Given the description of an element on the screen output the (x, y) to click on. 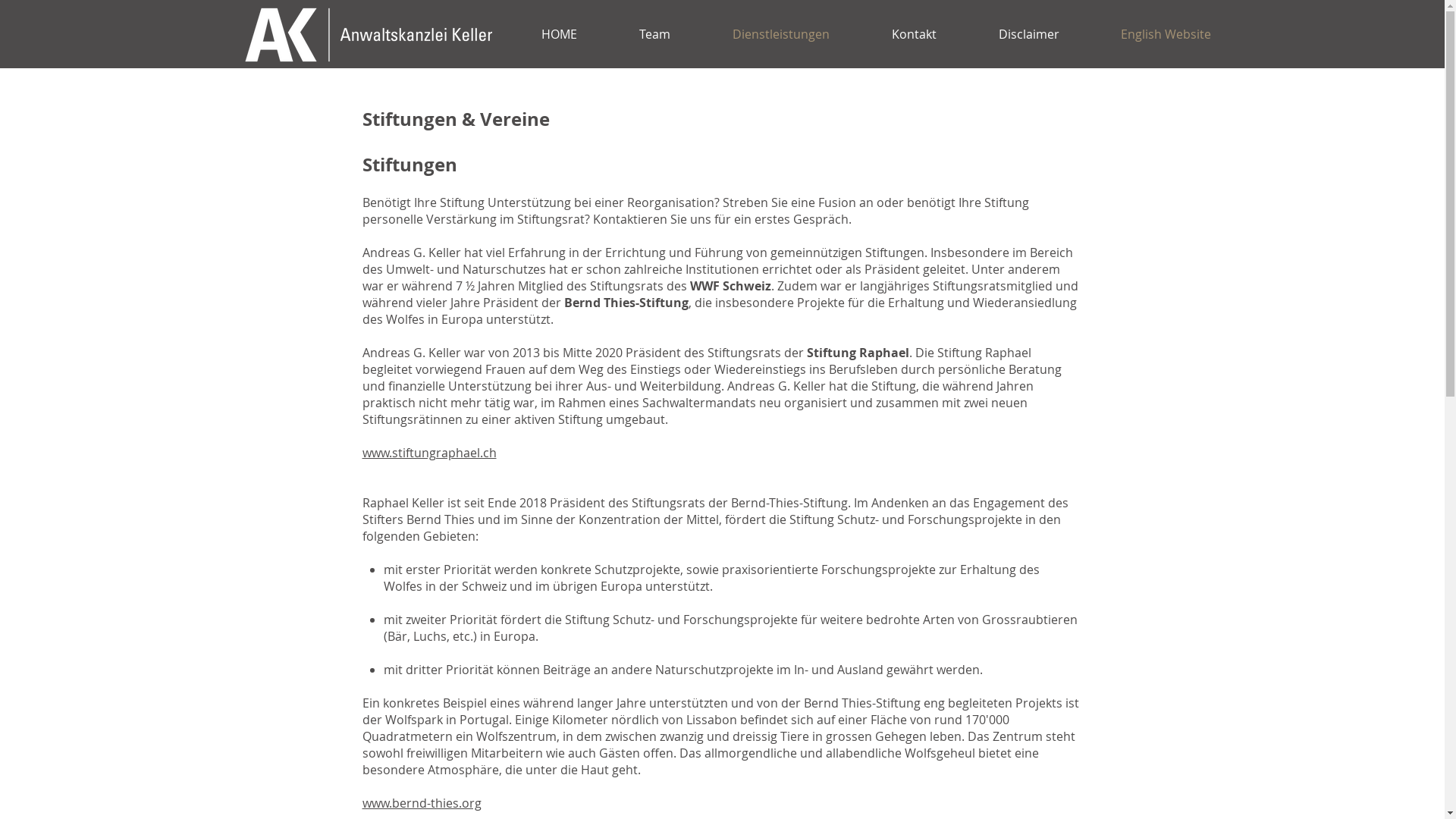
Disclaimer Element type: text (1028, 33)
Dienstleistungen Element type: text (779, 33)
HOME Element type: text (558, 33)
www.bernd-thies.org Element type: text (421, 802)
Kontakt Element type: text (912, 33)
Team Element type: text (654, 33)
www.stiftungraphael.ch Element type: text (429, 452)
English Website Element type: text (1164, 33)
